Given the description of an element on the screen output the (x, y) to click on. 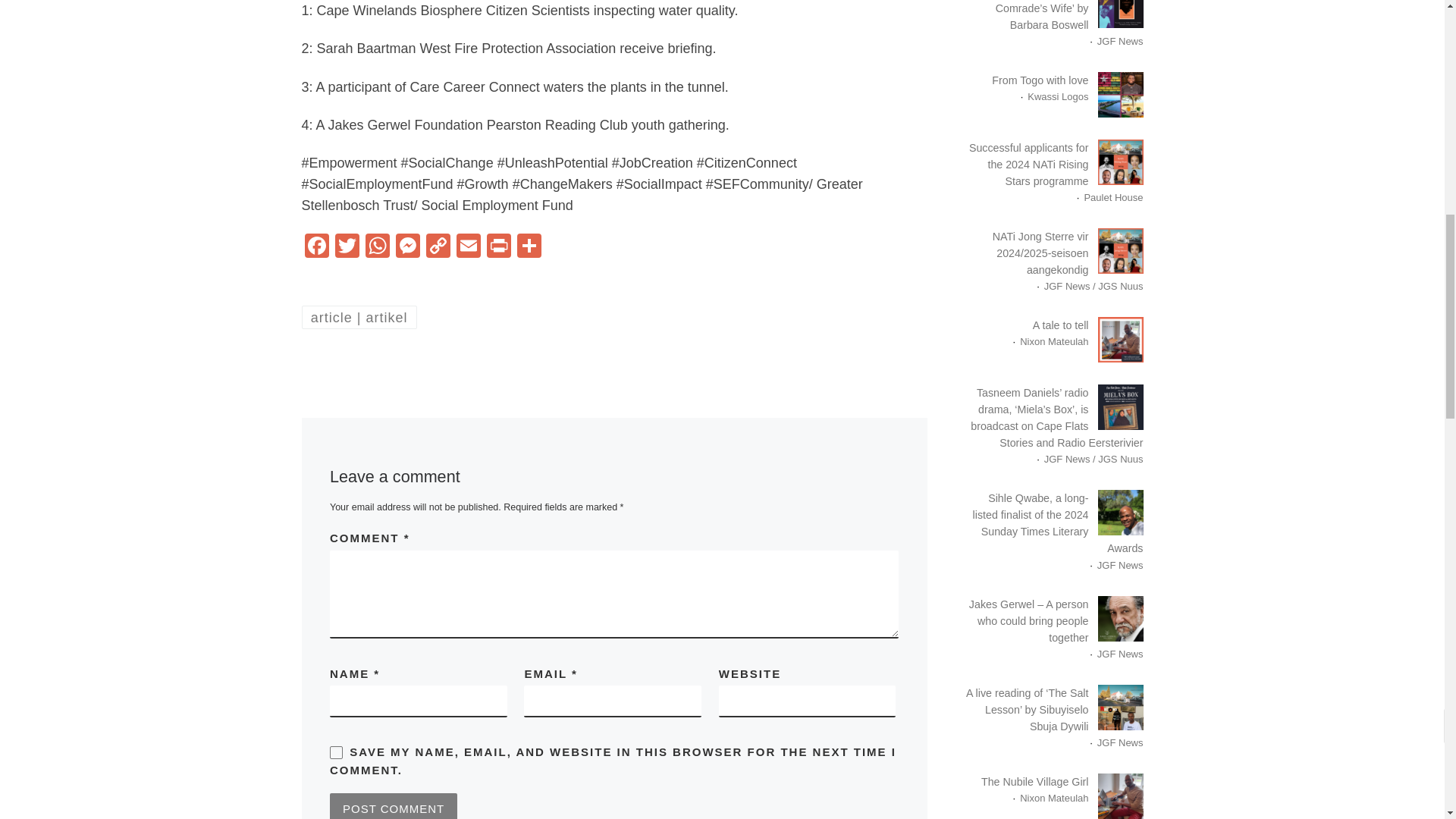
yes (336, 752)
WhatsApp (377, 247)
Post Comment (393, 806)
Twitter (346, 247)
Facebook (316, 247)
Messenger (408, 247)
Facebook (316, 247)
Twitter (346, 247)
